Given the description of an element on the screen output the (x, y) to click on. 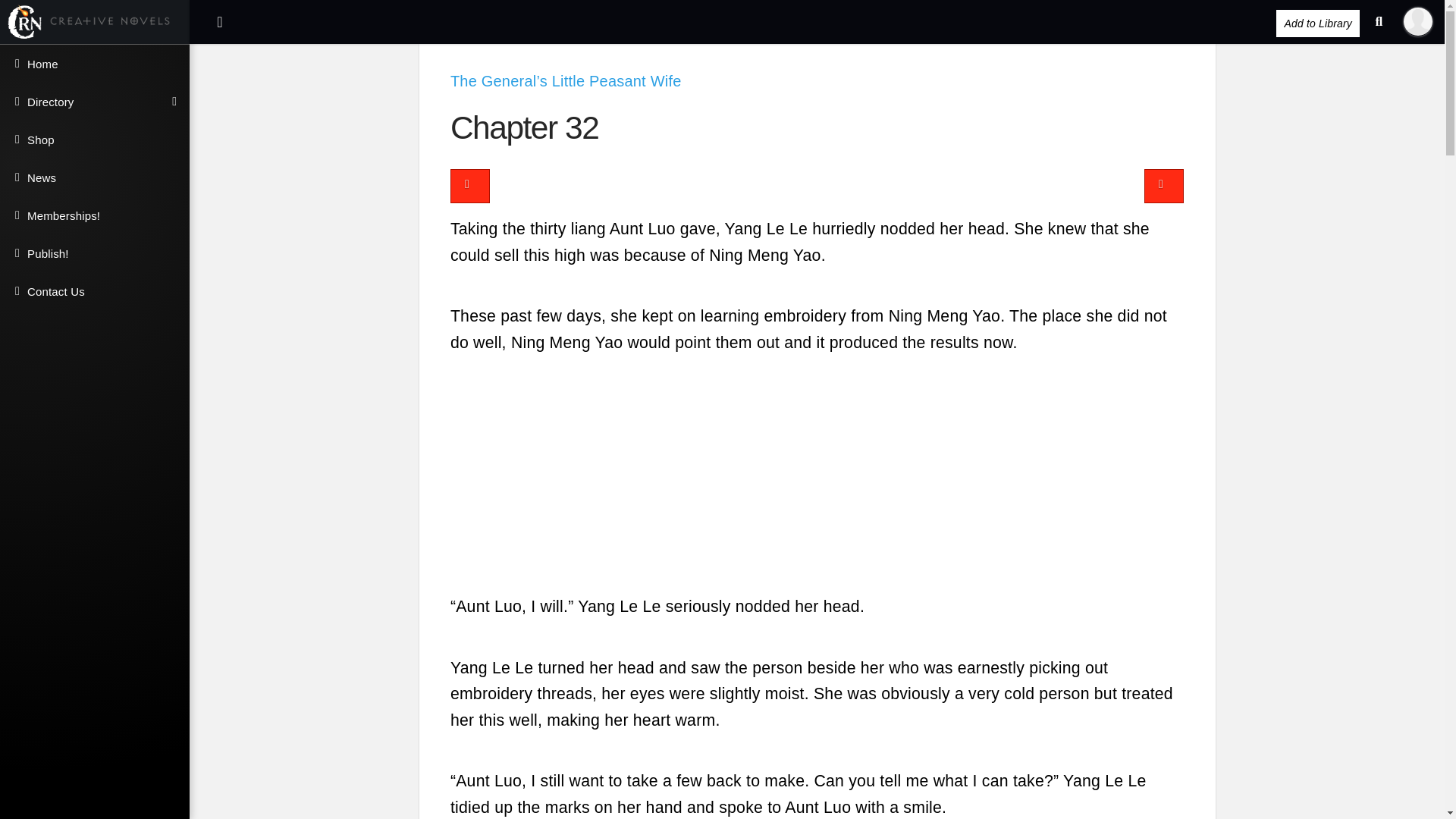
Shop (94, 139)
Directory (94, 101)
Memberships! (94, 215)
Home (94, 63)
Contact Us (94, 290)
